Given the description of an element on the screen output the (x, y) to click on. 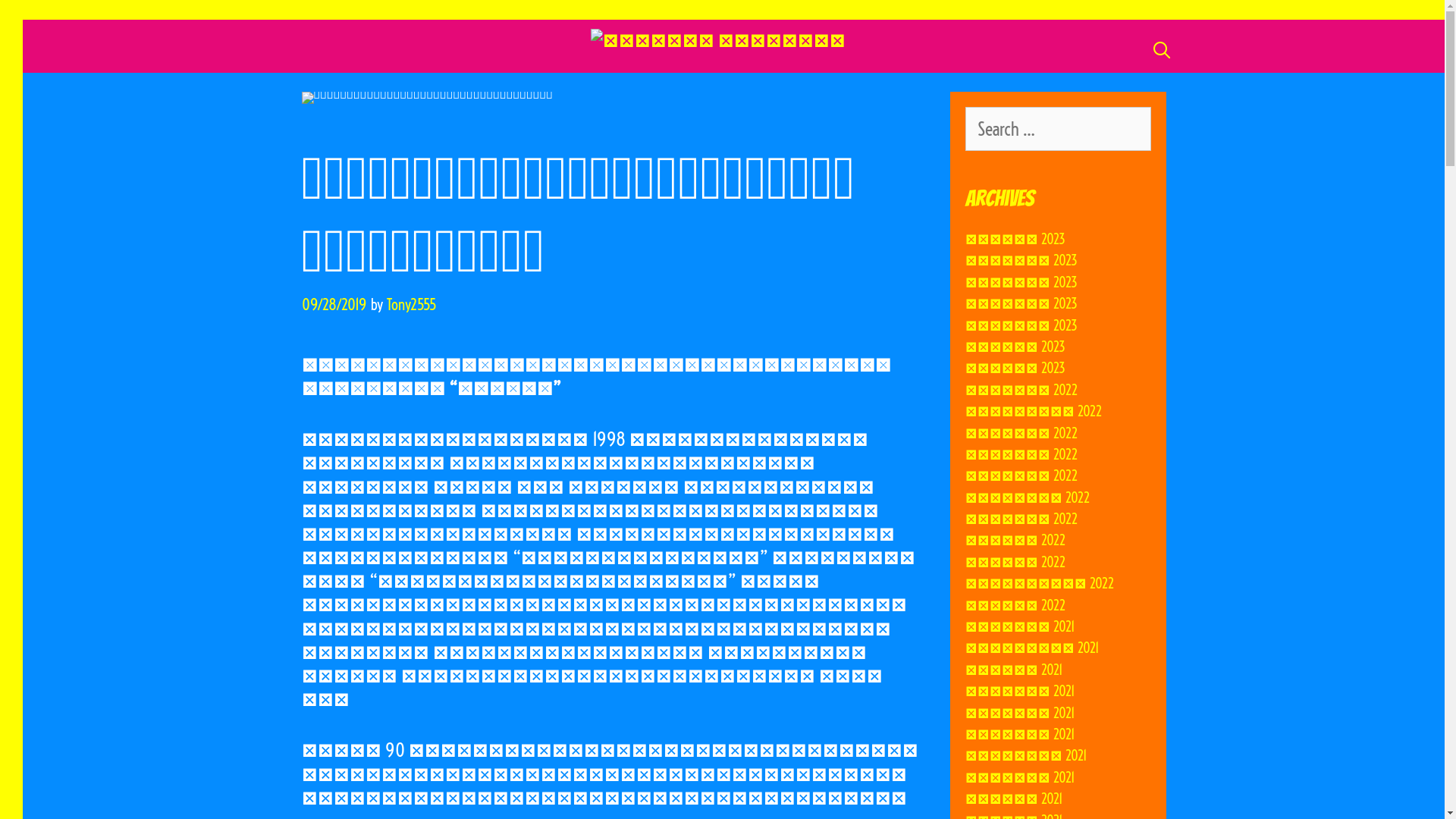
Tony2555 Element type: text (411, 303)
Search Element type: text (40, 19)
Search for: Element type: hover (1057, 128)
SEARCH Element type: text (1161, 49)
Search Element type: text (15, 22)
09/28/2019 Element type: text (334, 303)
